Given the description of an element on the screen output the (x, y) to click on. 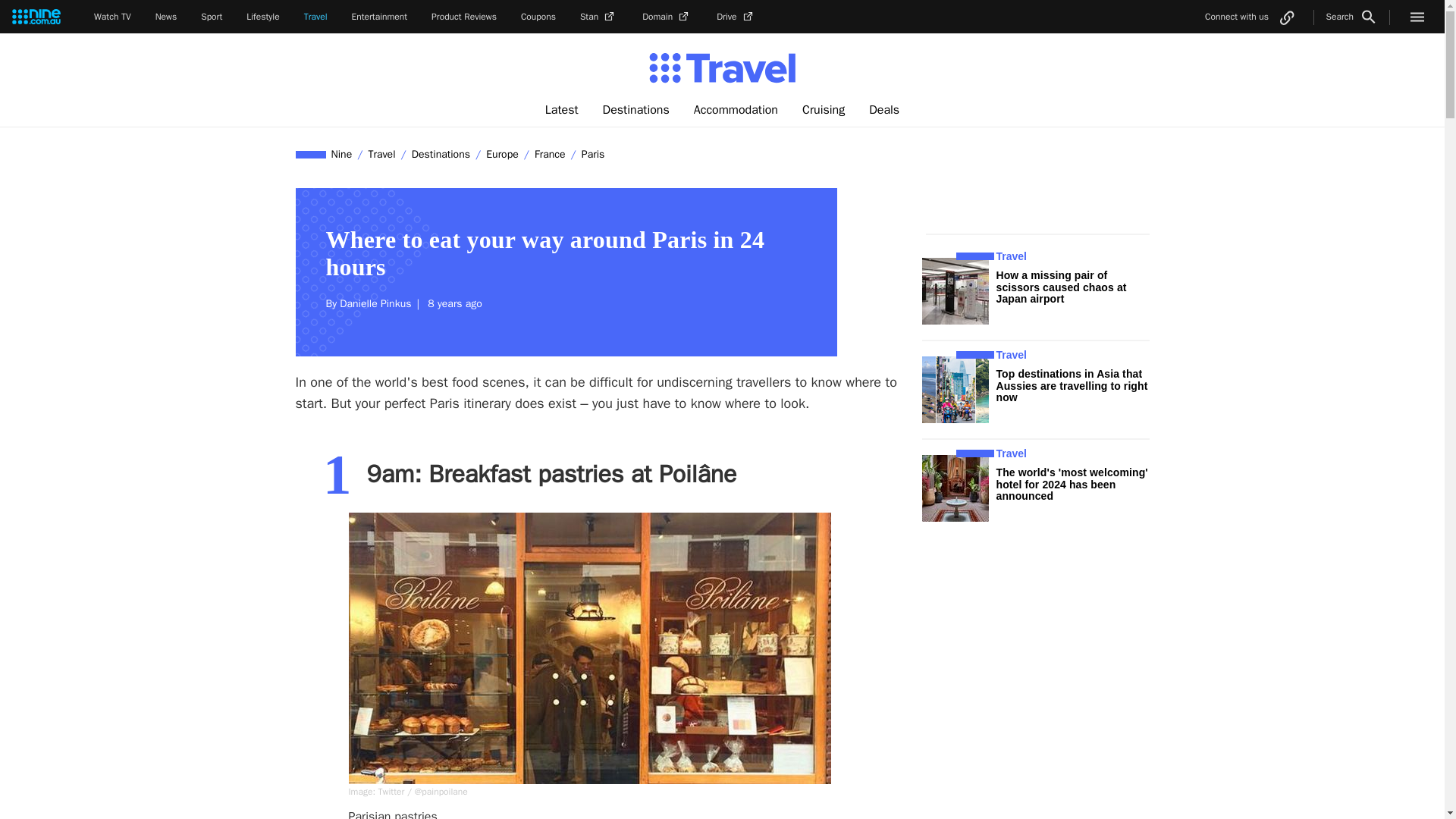
Watch TV (112, 16)
Drive (735, 16)
Nine (342, 154)
Entertainment (379, 16)
Deals (884, 109)
Cruising (823, 109)
Travel (381, 154)
Latest (561, 109)
France (549, 154)
Lifestyle (262, 16)
